Given the description of an element on the screen output the (x, y) to click on. 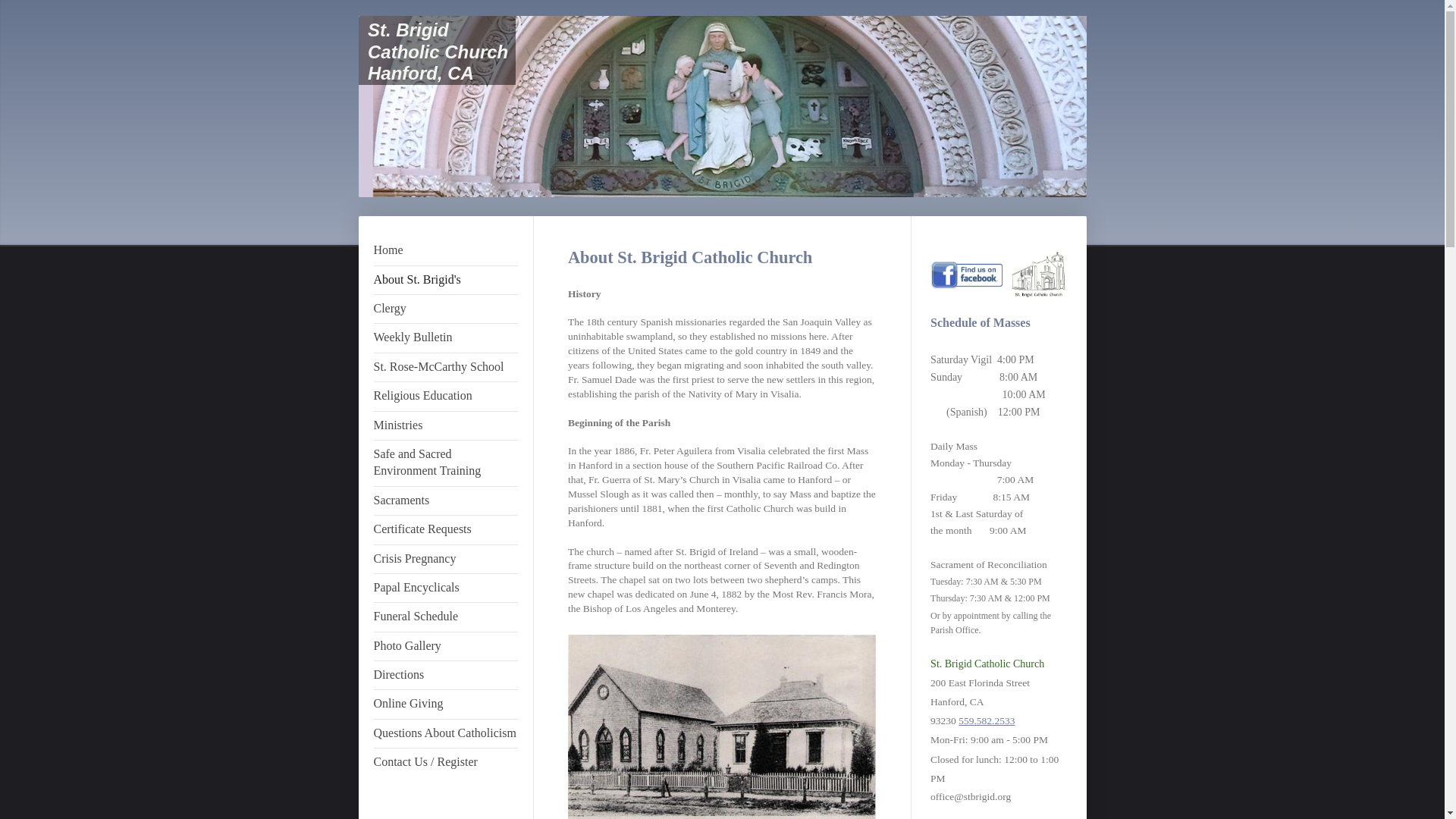
St. Brigid Catholic ChurchHanford, CA (436, 51)
Original St. Brigid's and Rectory (721, 726)
